Given the description of an element on the screen output the (x, y) to click on. 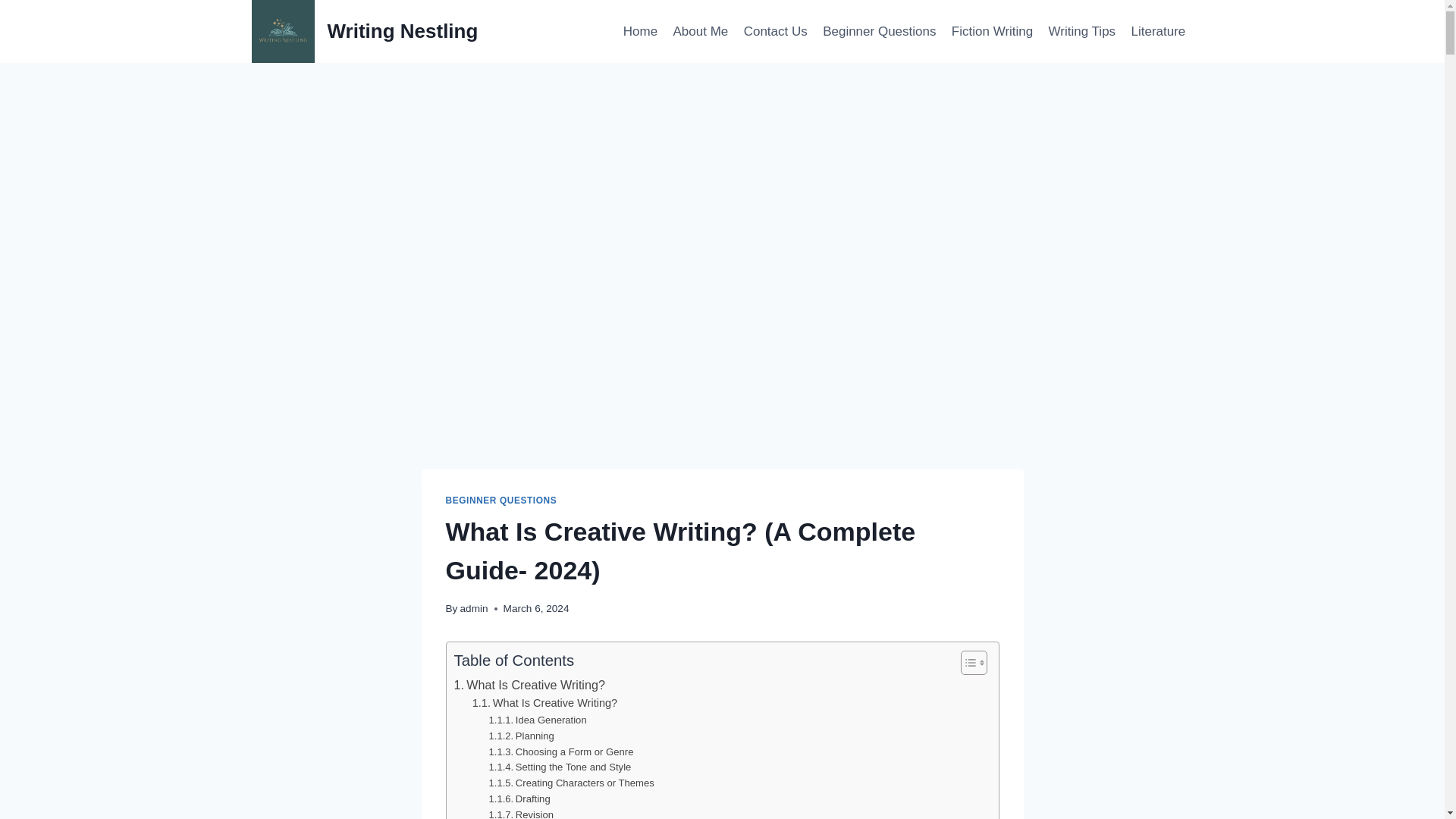
Creating Characters or Themes (571, 783)
Fiction Writing (992, 31)
What Is Creative Writing? (528, 685)
Idea Generation (537, 720)
admin (473, 608)
Creating Characters or Themes (571, 783)
Planning (521, 736)
Planning (521, 736)
About Me (700, 31)
Writing Nestling (365, 31)
Beginner Questions (879, 31)
Choosing a Form or Genre (561, 752)
Setting the Tone and Style (560, 767)
Choosing a Form or Genre (561, 752)
Drafting (519, 799)
